Given the description of an element on the screen output the (x, y) to click on. 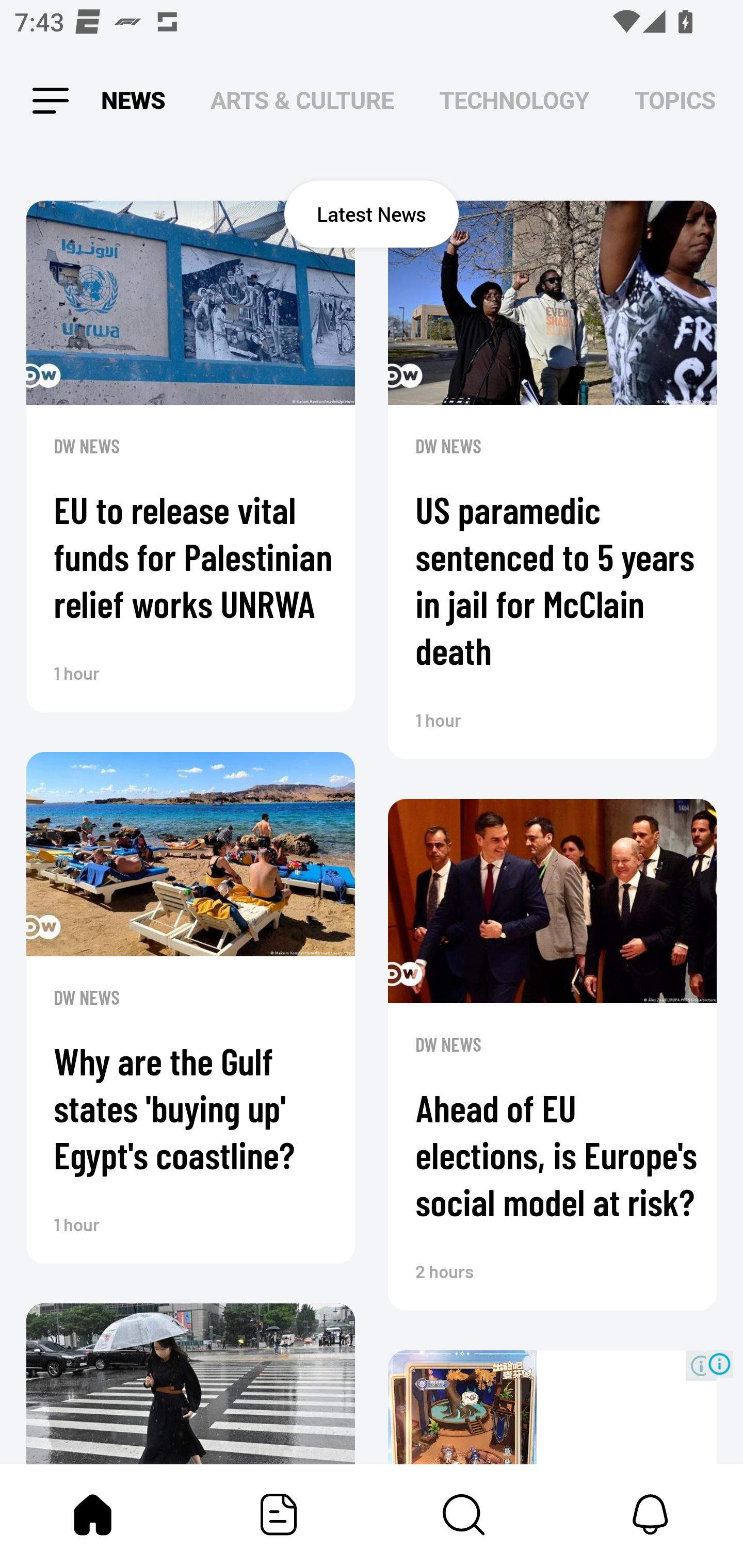
Leading Icon (48, 101)
ARTS & CULTURE (302, 100)
TECHNOLOGY (514, 100)
TOPICS (675, 100)
Latest News (371, 213)
Ad Choices Icon (719, 1364)
Featured (278, 1514)
Content Store (464, 1514)
Notifications (650, 1514)
